Given the description of an element on the screen output the (x, y) to click on. 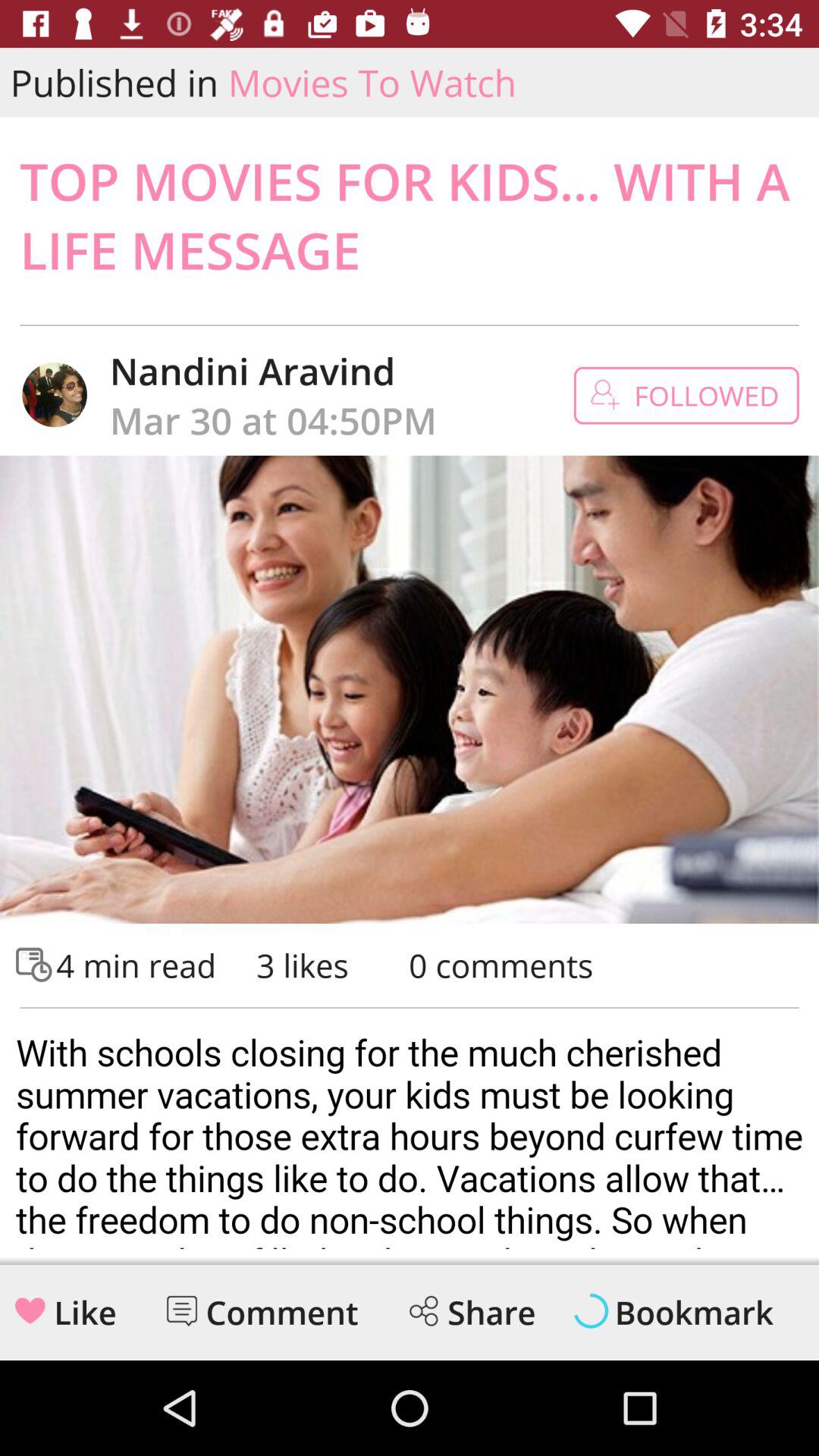
click to like button (30, 1310)
